Given the description of an element on the screen output the (x, y) to click on. 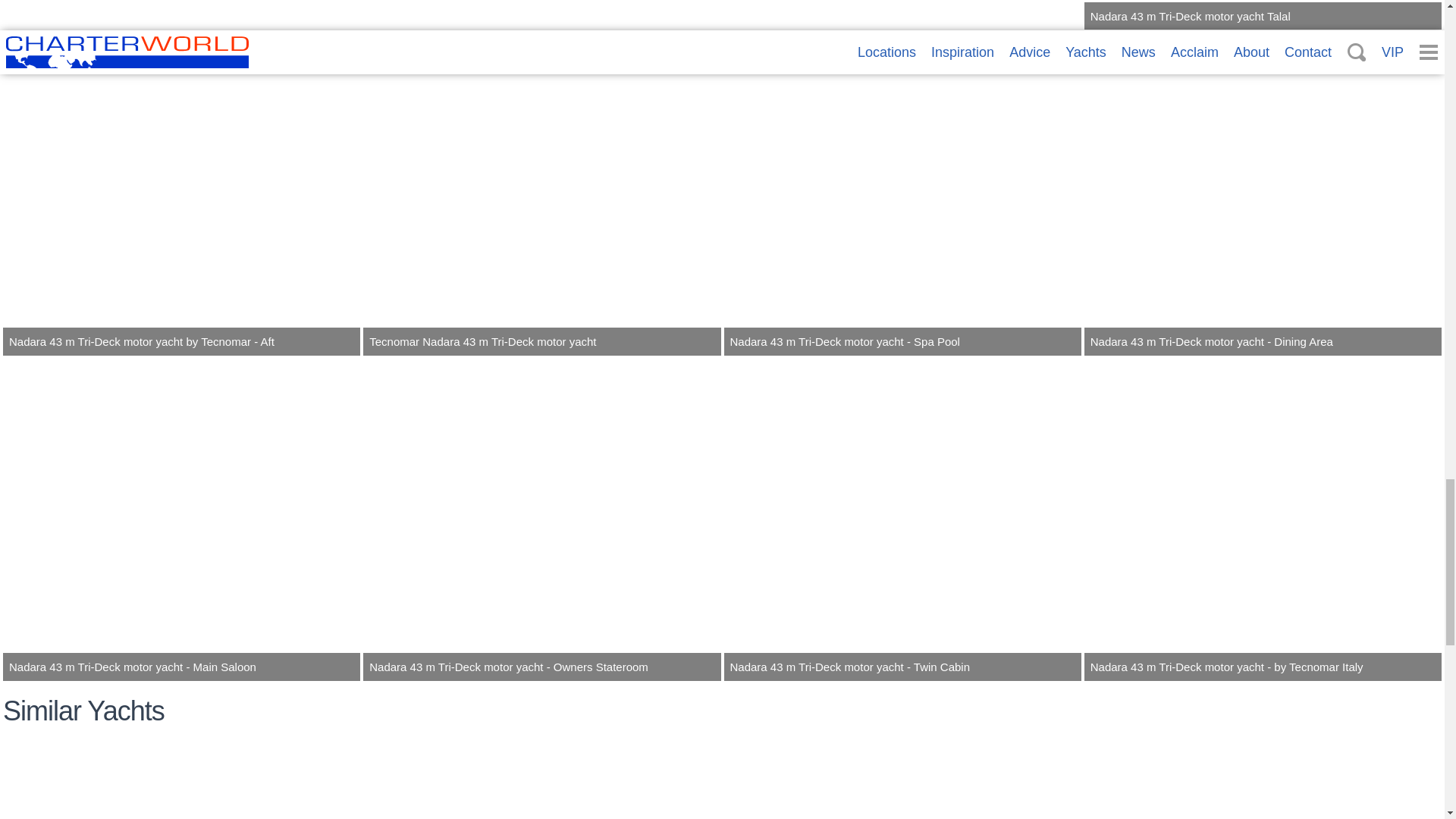
Nadara 43 m Tri-Deck motor yacht by Tecnomar - Aft (180, 193)
Nadara 43 m Tri-Deck motor yacht - Dining Area (1262, 193)
Nadara 43 m Tri-Deck motor yacht by Tecnomar - Aft (180, 193)
Nadara 43 m Tri-Deck motor yacht - Spa Pool (901, 193)
Nadara 43 m Tri-Deck motor yacht - Spa Pool (901, 193)
Tecnomar Nadara 43 m Tri-Deck motor yacht (541, 193)
Tecnomar Nadara 43 m Tri-Deck motor yacht (541, 193)
Nadara 43 m Tri-Deck motor yacht - Owners Stateroom (541, 518)
Nadara 43 m Tri-Deck motor yacht - Main Saloon (180, 518)
Nadara 43 m Tri-Deck motor yacht - Owners Stateroom (541, 518)
